Given the description of an element on the screen output the (x, y) to click on. 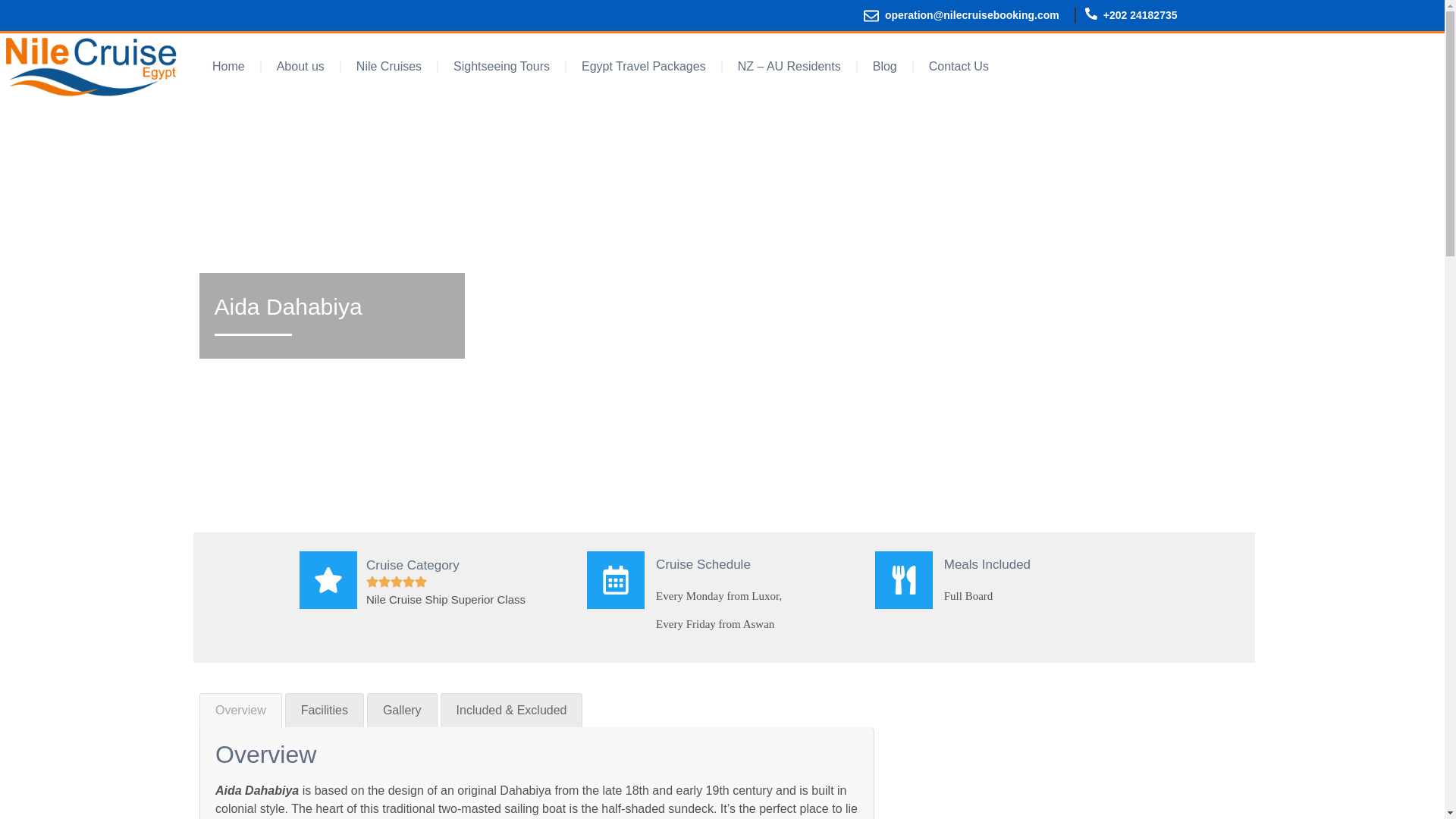
About us (300, 66)
Contact Us (959, 66)
Sightseeing Tours (501, 66)
Nile Cruises (388, 66)
Blog (884, 66)
Egypt Travel Packages (643, 66)
Home (228, 66)
